Given the description of an element on the screen output the (x, y) to click on. 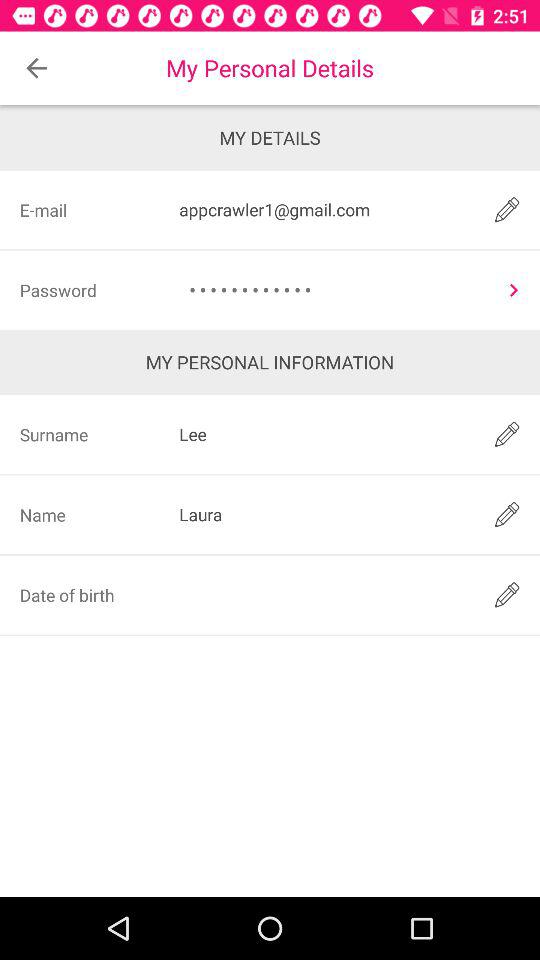
flip to the ************ icon (333, 289)
